Given the description of an element on the screen output the (x, y) to click on. 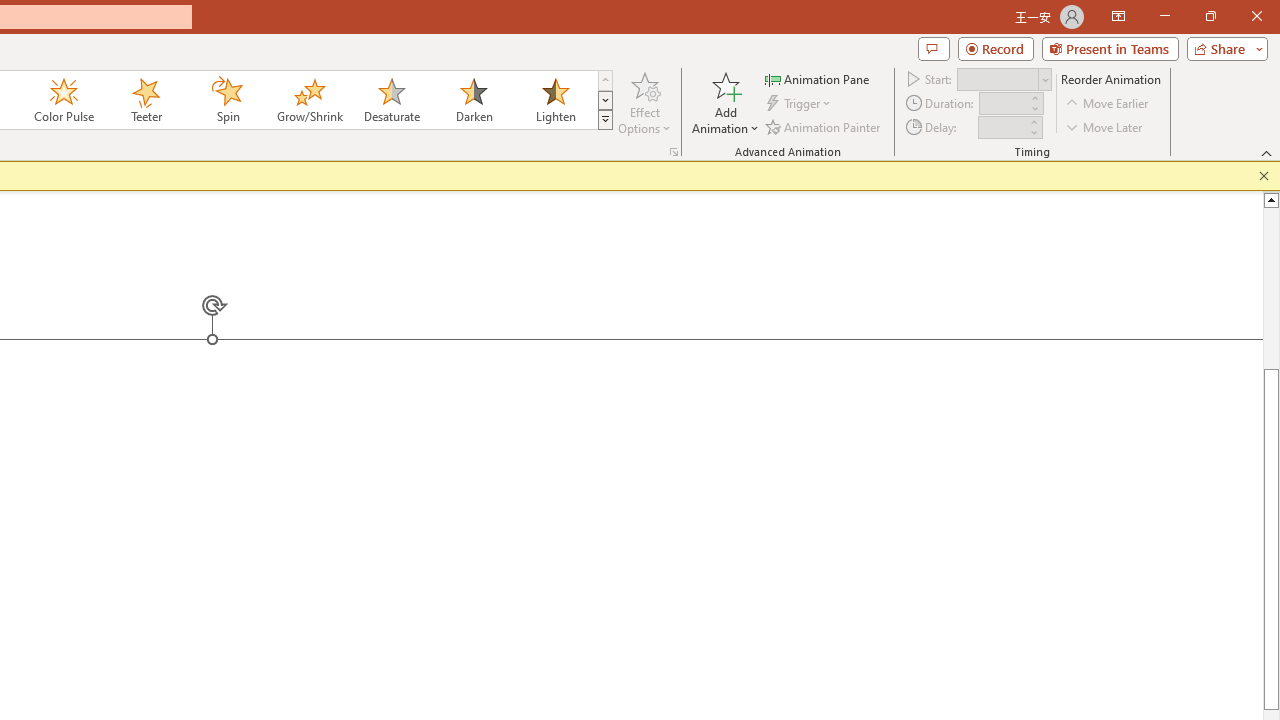
Add Animation (725, 102)
Animation Pane (818, 78)
Color Pulse (63, 100)
Teeter (145, 100)
Trigger (799, 103)
Effect Options (644, 102)
Move Earlier (1107, 103)
Animation Painter (824, 126)
